Given the description of an element on the screen output the (x, y) to click on. 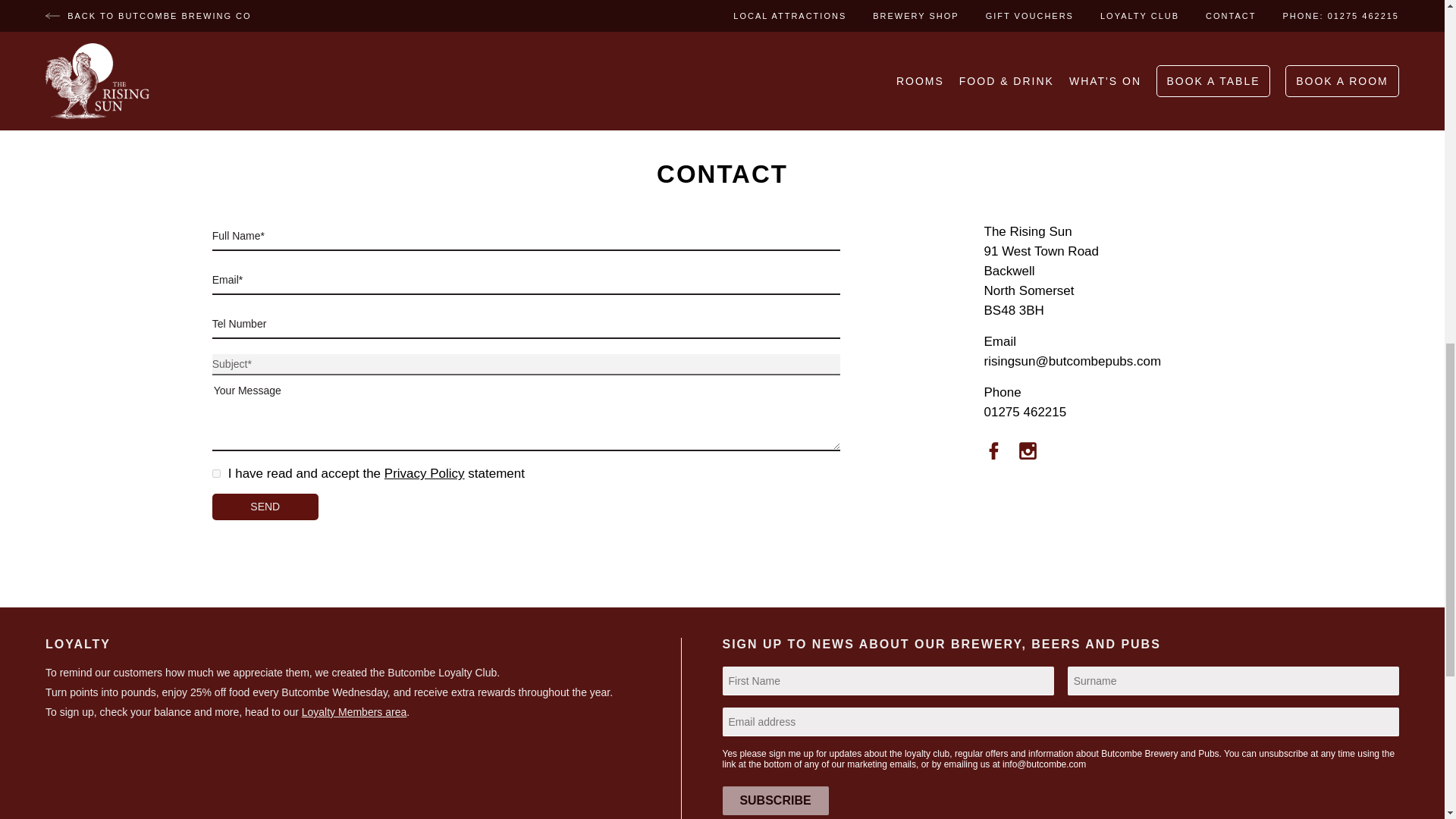
01275 462215 (1025, 411)
SEND (265, 506)
Privacy Policy (424, 473)
Loyalty Members area (354, 711)
subscribe (775, 800)
subscribe (775, 800)
